Given the description of an element on the screen output the (x, y) to click on. 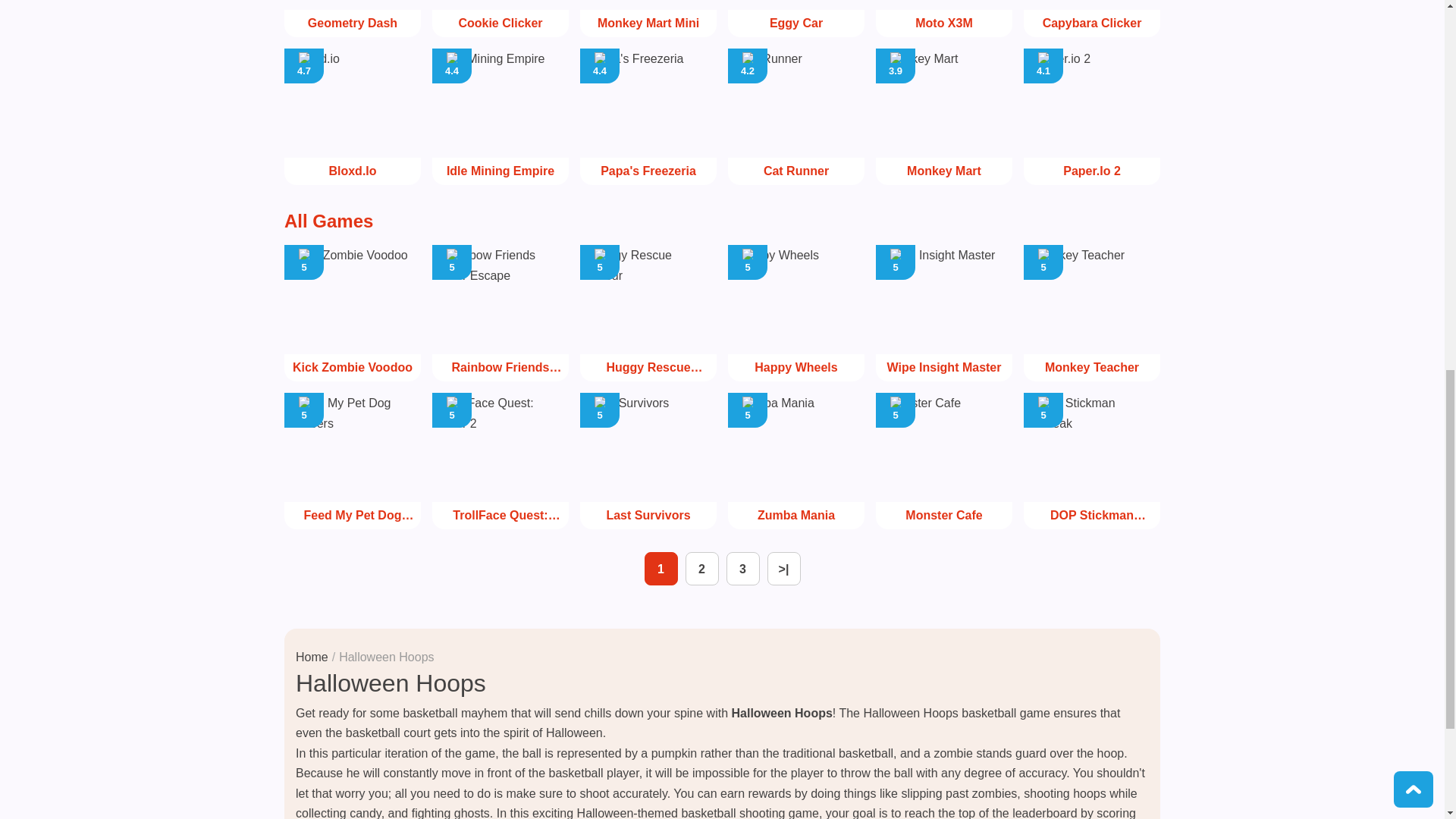
Cookie Clicker (943, 116)
Monkey Mart Mini (647, 18)
Eggy Car (351, 18)
Geometry Dash (500, 18)
